Given the description of an element on the screen output the (x, y) to click on. 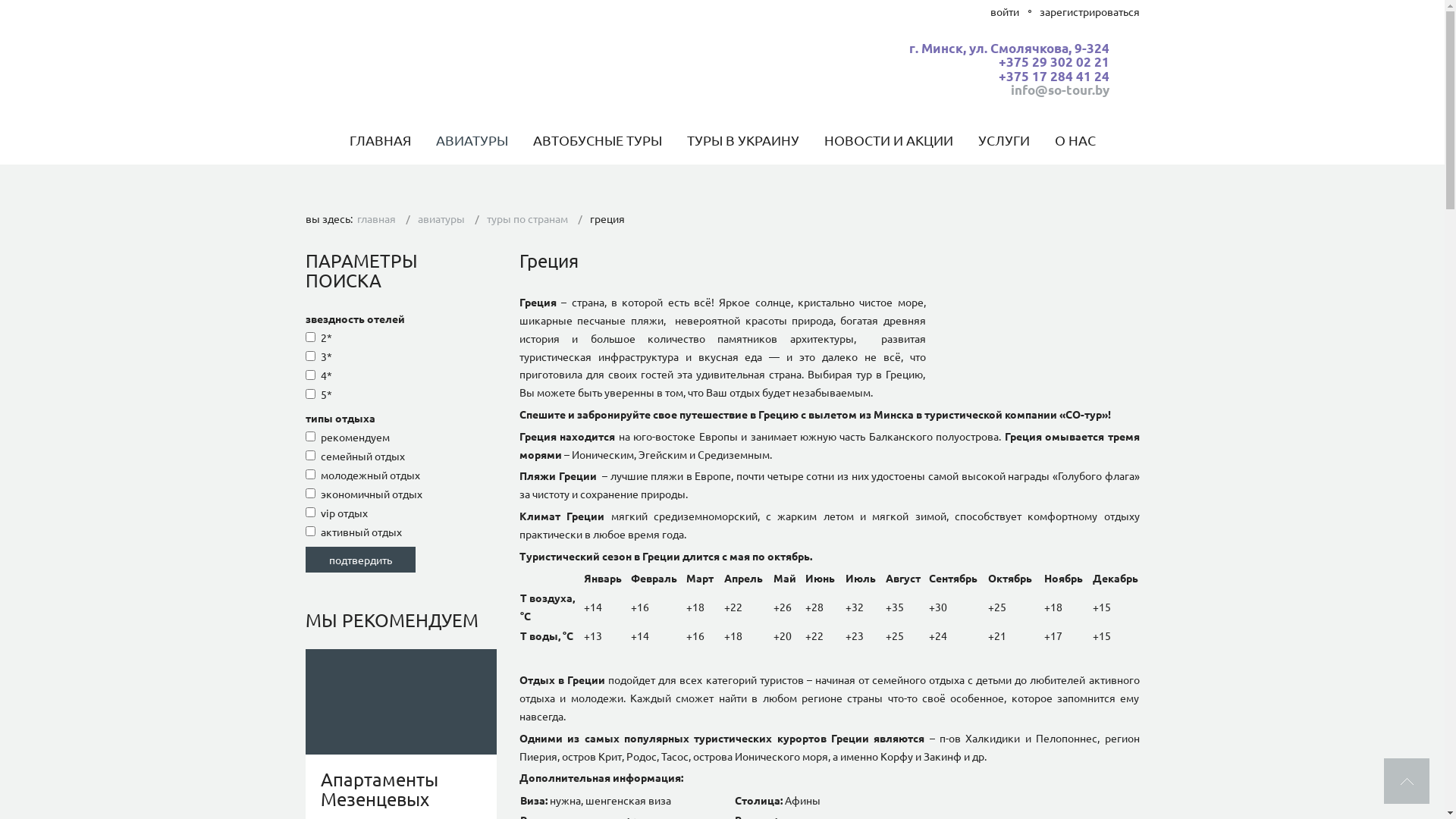
info@so-tour.by Element type: text (1059, 89)
  Element type: text (1406, 780)
